Given the description of an element on the screen output the (x, y) to click on. 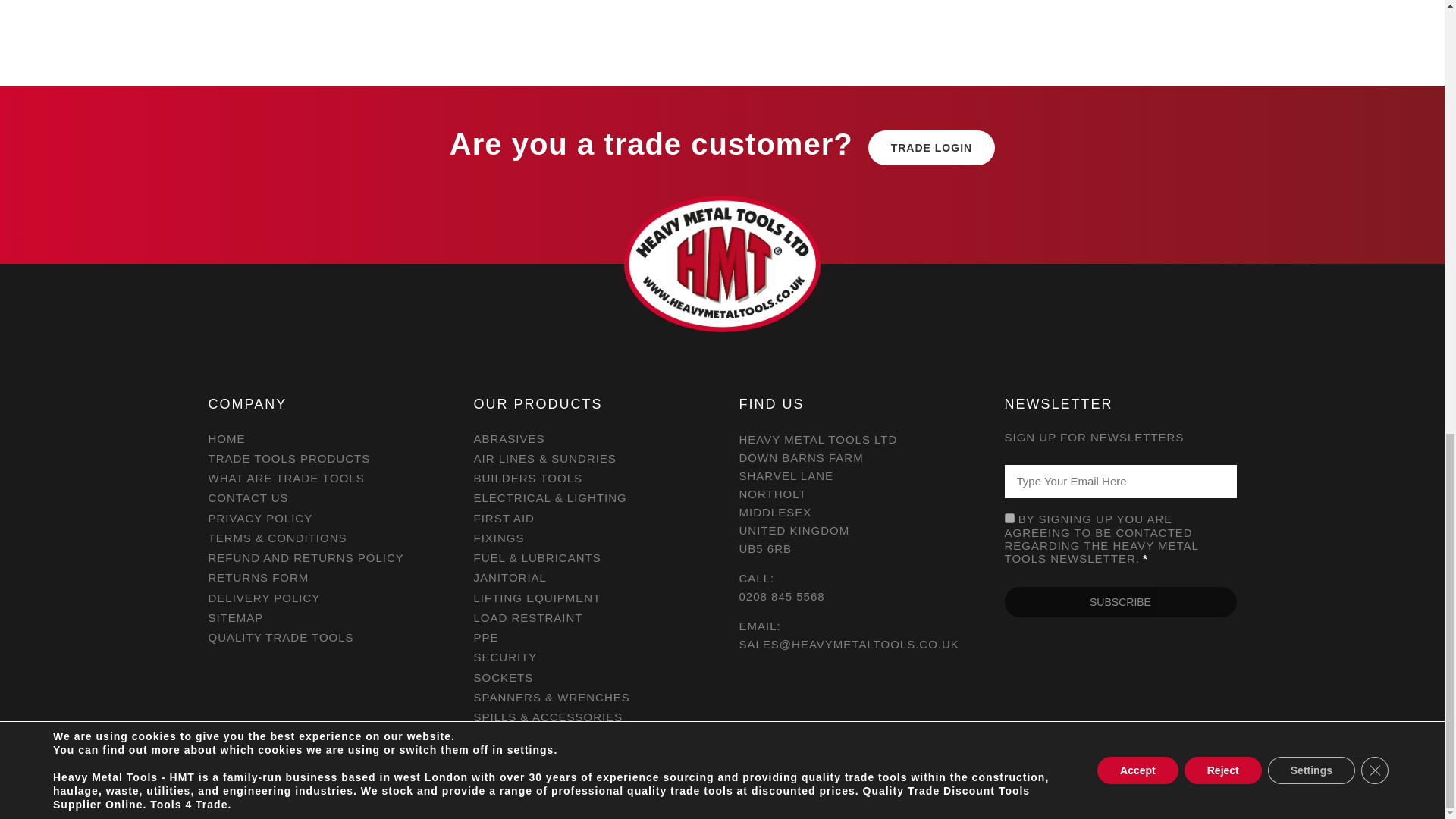
1 (1008, 518)
RETURNS FORM (323, 577)
TRADE TOOLS PRODUCTS (323, 458)
PRIVACY POLICY (323, 518)
WHAT ARE TRADE TOOLS (323, 478)
CONTACT US (323, 497)
Subscribe (1120, 602)
TRADE LOGIN (930, 147)
HOME (323, 438)
REFUND AND RETURNS POLICY (323, 557)
